Given the description of an element on the screen output the (x, y) to click on. 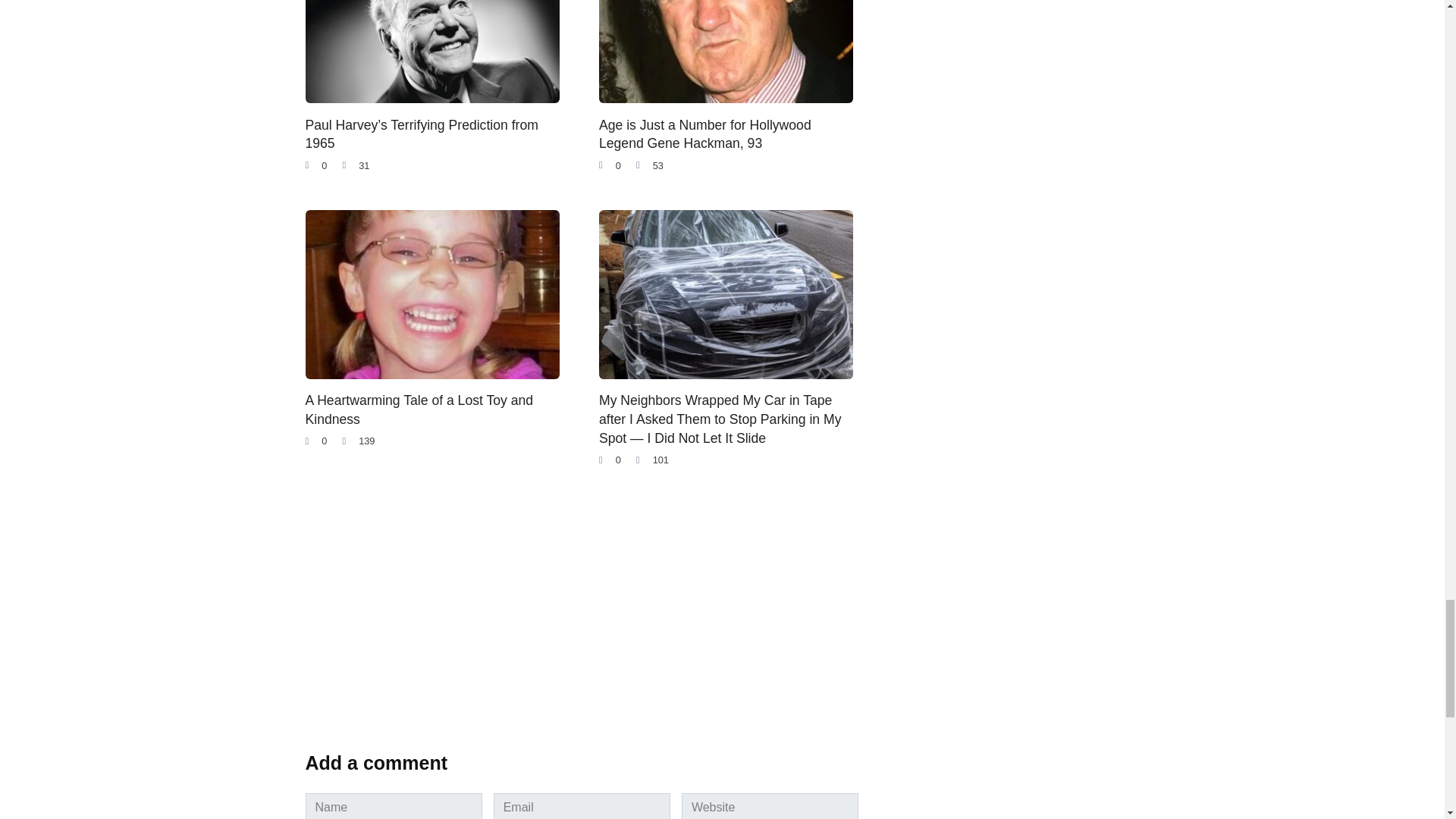
A Heartwarming Tale of a Lost Toy and Kindness (418, 409)
Age is Just a Number for Hollywood Legend Gene Hackman, 93 (704, 134)
